Given the description of an element on the screen output the (x, y) to click on. 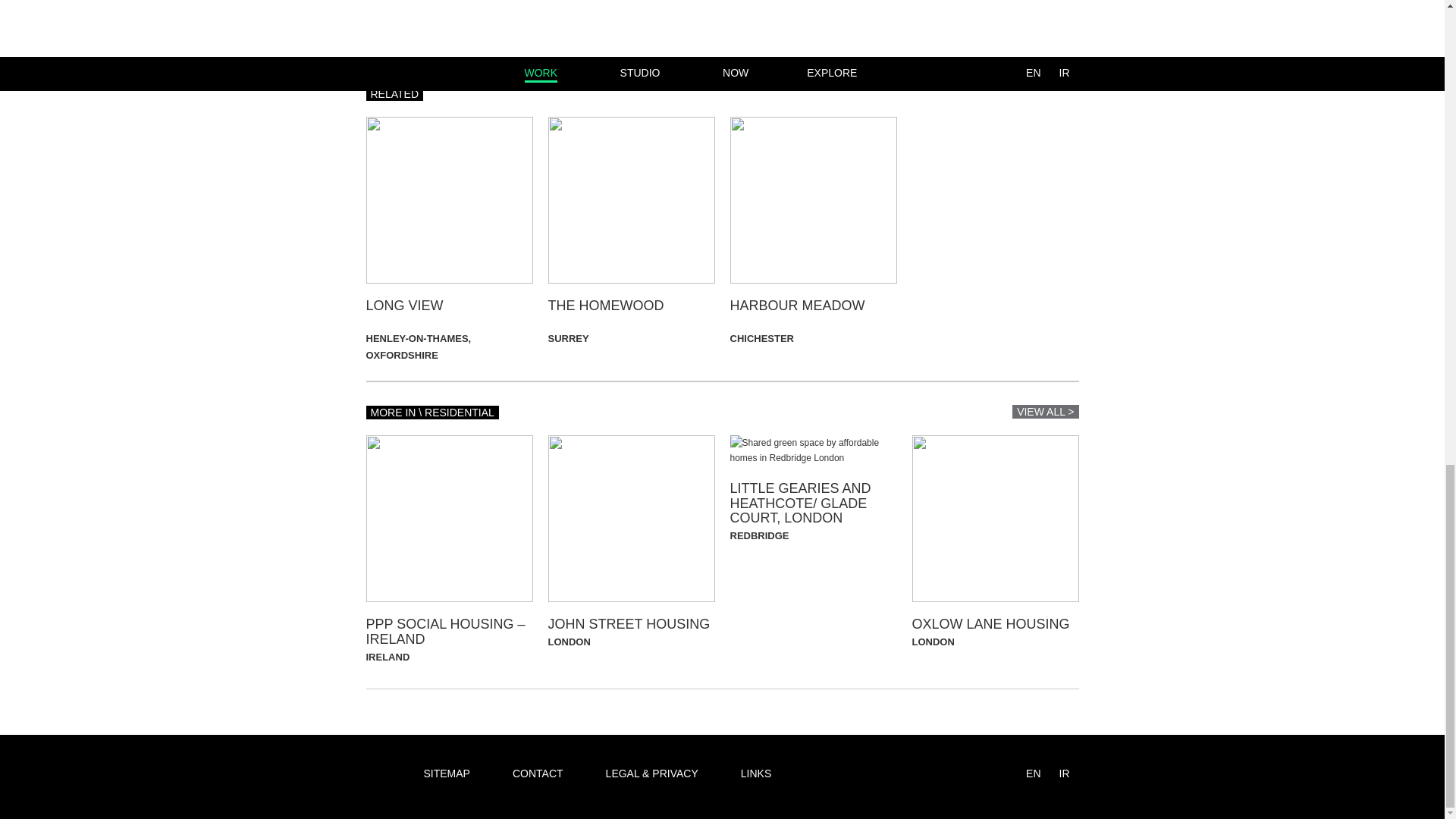
Bespoke Residences (596, 1)
Complete (415, 11)
Residential (478, 27)
Post 1900 (628, 11)
Refurbishment (403, 27)
Cherry Hill (528, 8)
Work (545, 27)
UK (519, 27)
